Given the description of an element on the screen output the (x, y) to click on. 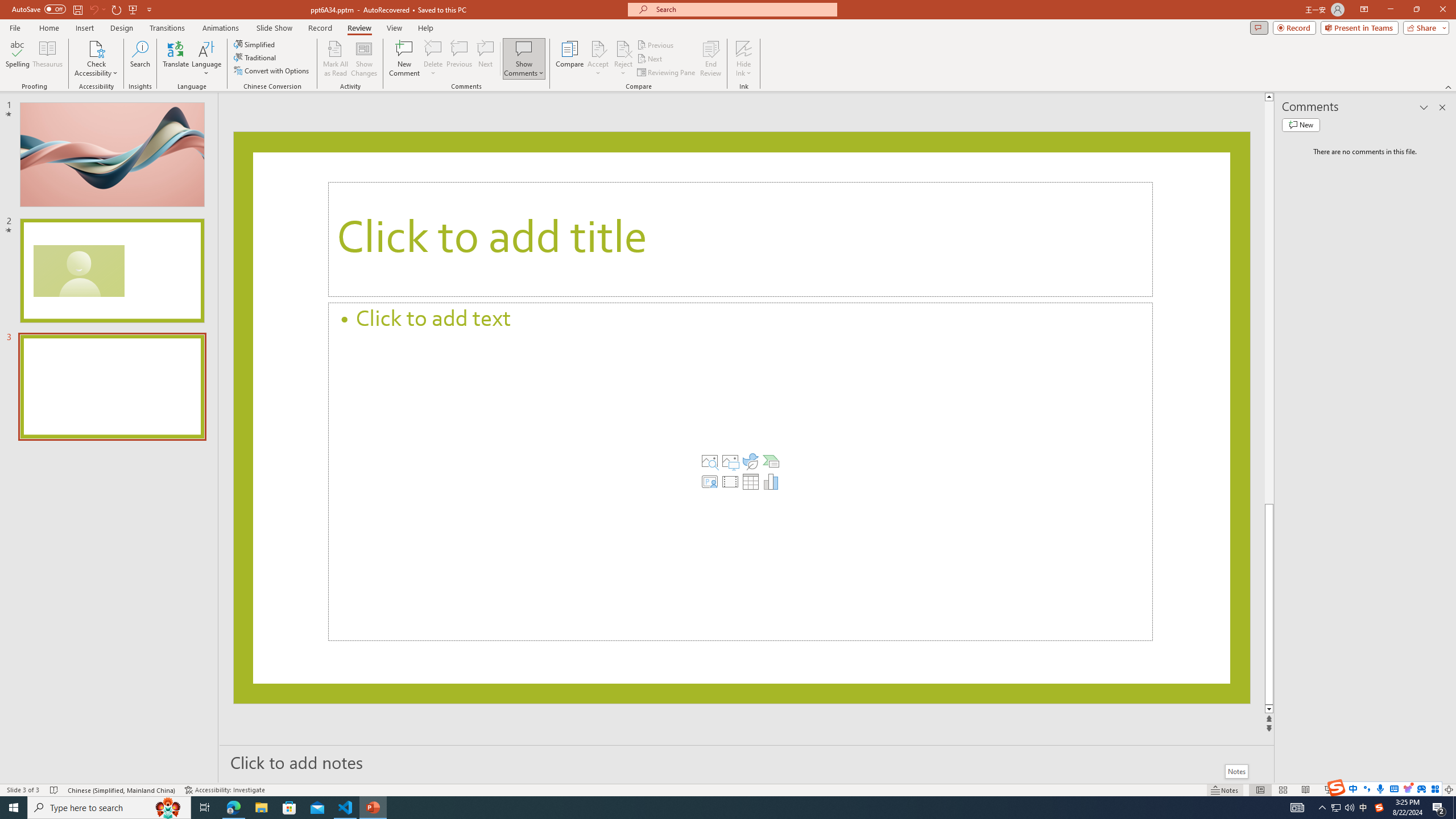
Accept (598, 58)
Notes (1235, 771)
Language (206, 58)
Reject (622, 58)
